Given the description of an element on the screen output the (x, y) to click on. 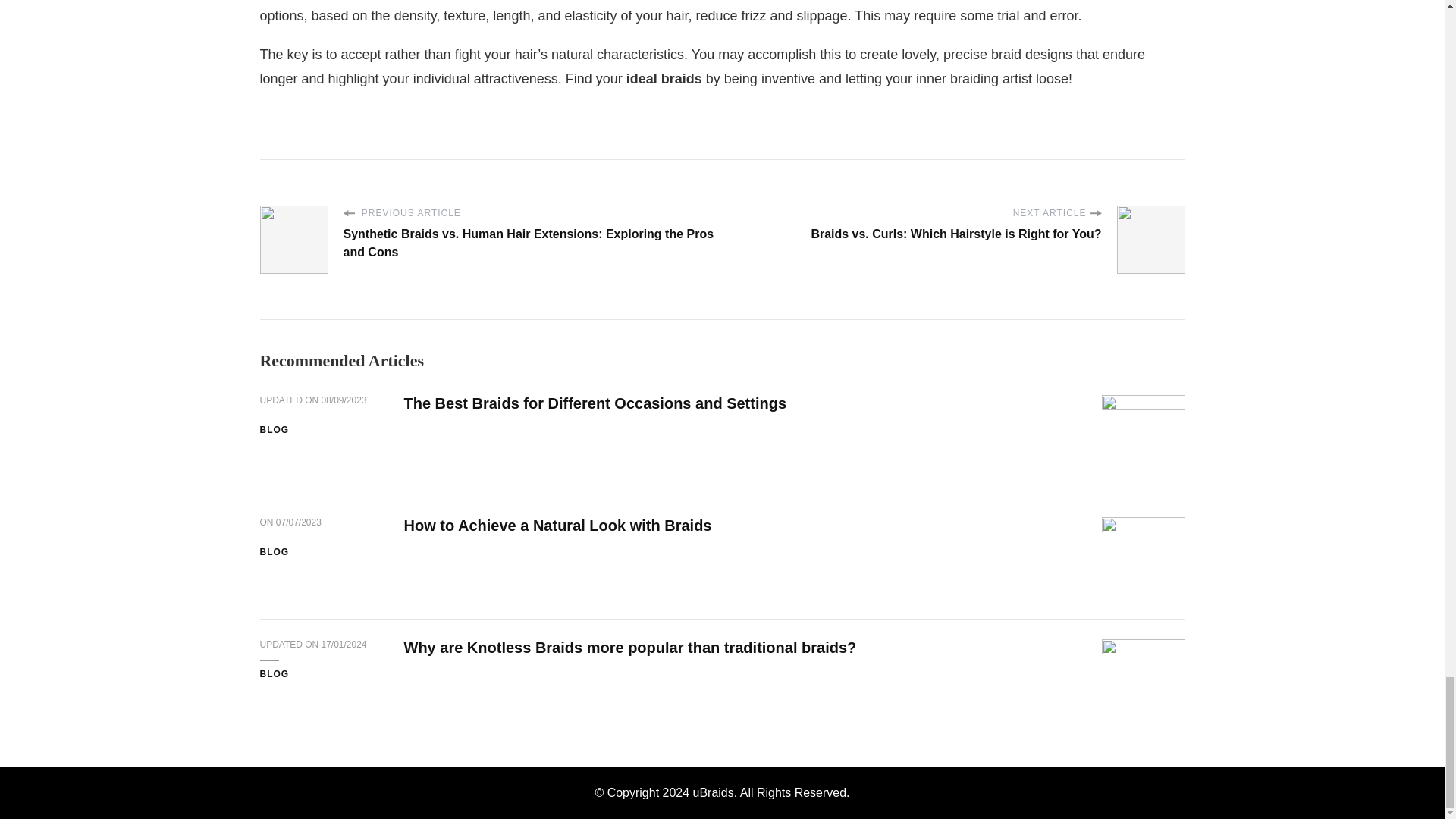
How to Achieve a Natural Look with Braids (557, 524)
BLOG (273, 552)
BLOG (273, 674)
uBraids (713, 792)
BLOG (273, 430)
The Best Braids for Different Occasions and Settings (594, 402)
